Given the description of an element on the screen output the (x, y) to click on. 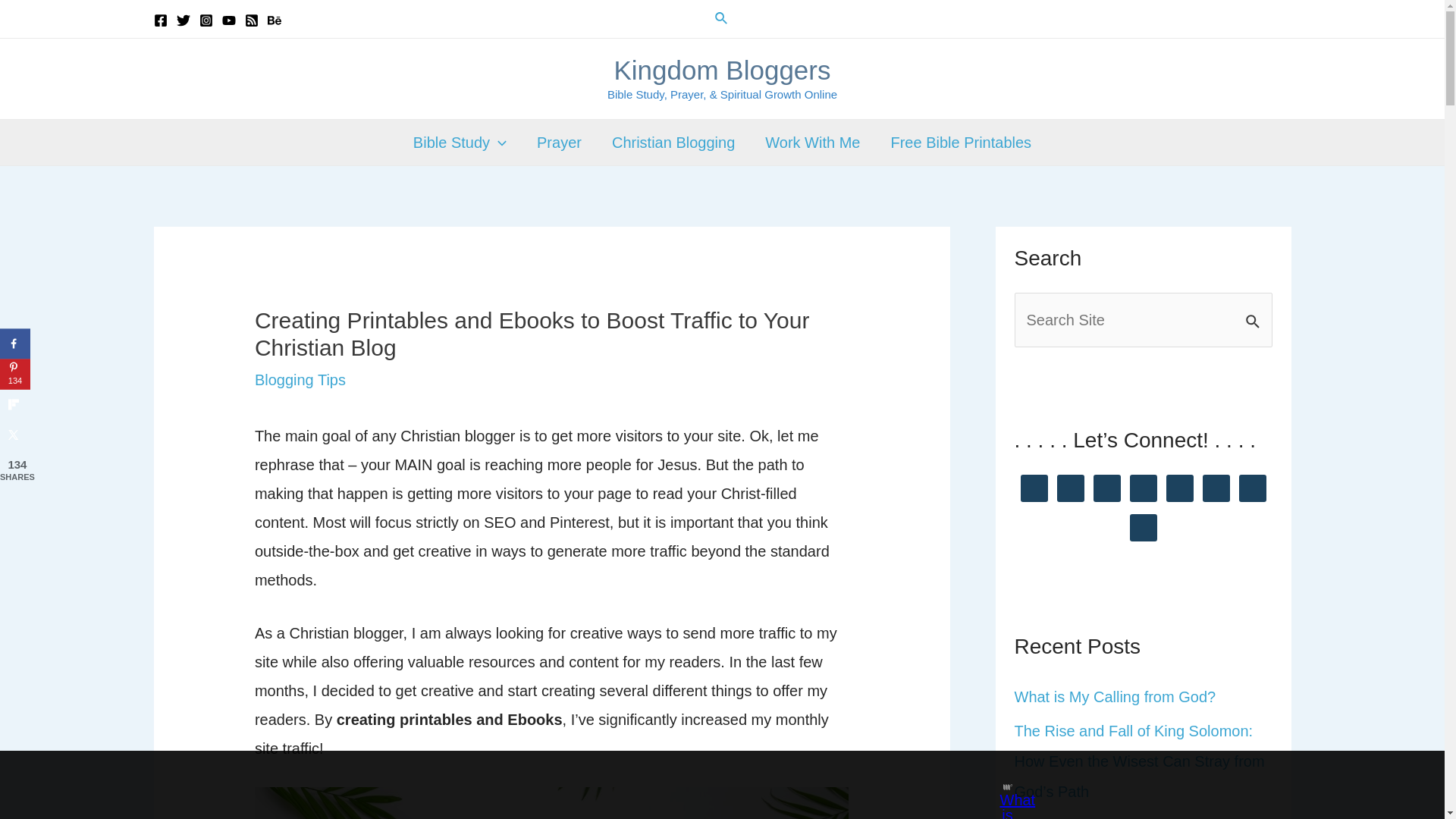
Share on Facebook (15, 344)
Share on Flipboard (15, 404)
Work With Me (812, 142)
Prayer (558, 142)
Search (1254, 309)
Christian Blogging (672, 142)
Bible Study (459, 142)
Share on X (15, 435)
Kingdom Bloggers (720, 70)
Search (1254, 309)
Save to Pinterest (15, 374)
Free Bible Printables (960, 142)
